Given the description of an element on the screen output the (x, y) to click on. 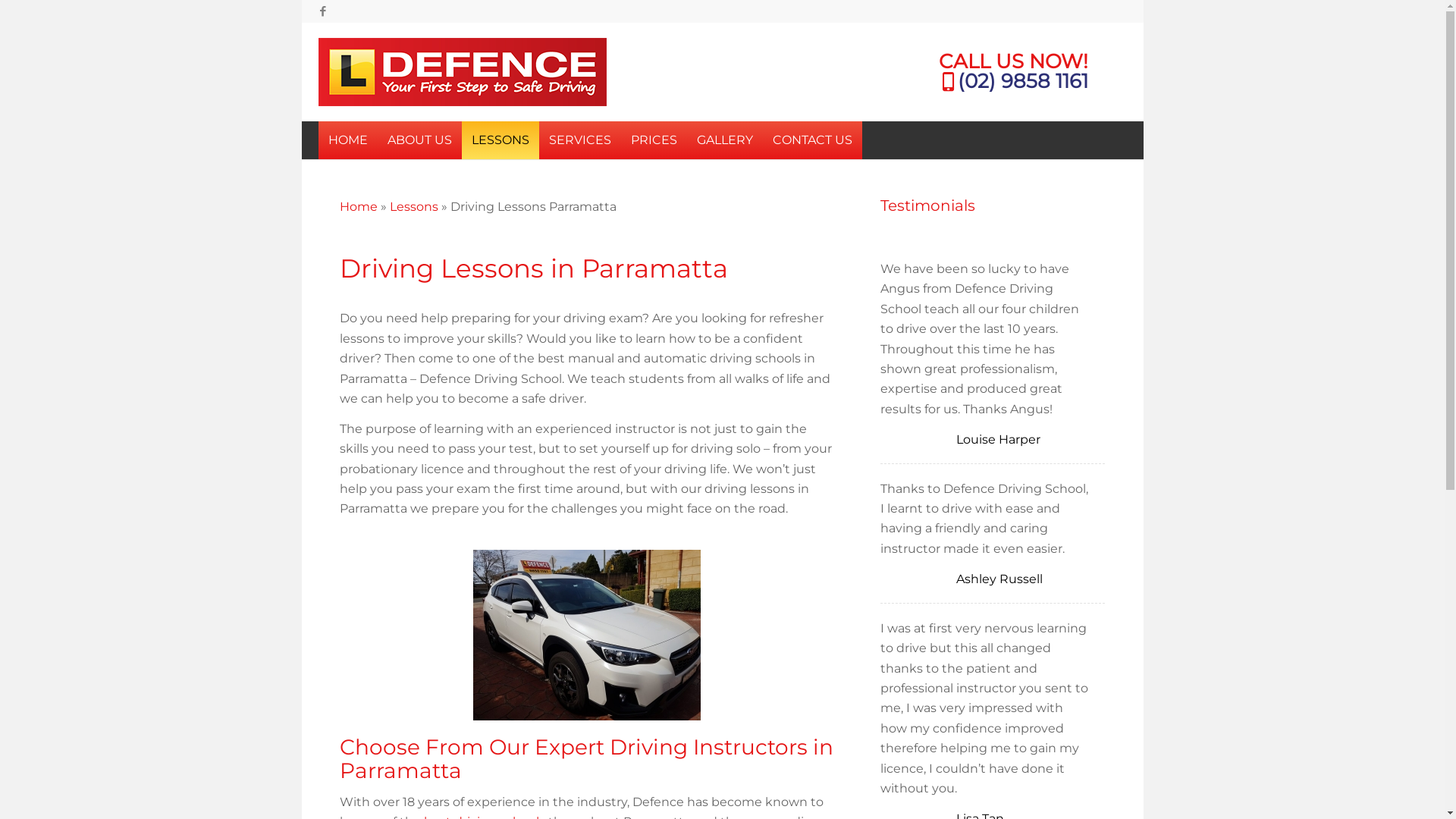
Facebook Element type: hover (322, 11)
Driving Lessons Parramatta Element type: hover (586, 635)
HOME Element type: text (347, 140)
SERVICES Element type: text (580, 140)
Lessons Element type: text (413, 206)
CONTACT US Element type: text (812, 140)
(02) 9858 1161 Element type: text (1022, 81)
Home Element type: text (358, 206)
GALLERY Element type: text (724, 140)
LESSONS Element type: text (500, 140)
PRICES Element type: text (654, 140)
logo Element type: hover (462, 71)
ABOUT US Element type: text (419, 140)
